Given the description of an element on the screen output the (x, y) to click on. 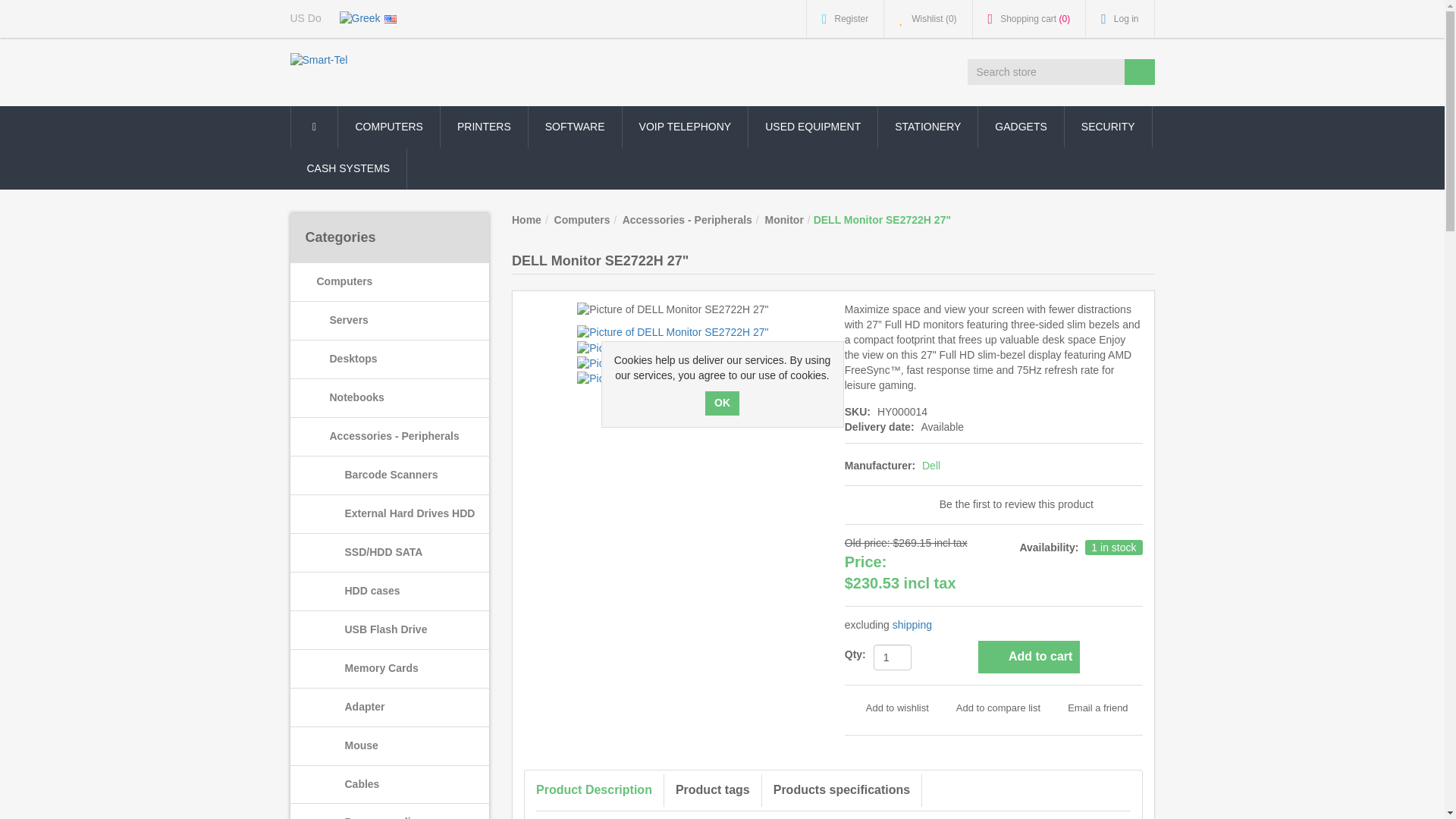
Picture of DELL Monitor SE2722H 27" (672, 331)
Picture of DELL Monitor SE2722H 27" (672, 378)
Picture of DELL Monitor SE2722H 27" (672, 346)
PRINTERS (484, 127)
Picture of DELL Monitor SE2722H 27" (672, 378)
Register (844, 18)
Picture of DELL Monitor SE2722H 27" (672, 309)
Add to cart (1029, 656)
English (390, 18)
Add to wishlist (886, 708)
Log in (1120, 18)
Greek (359, 18)
Email a friend (1086, 708)
Greek (359, 18)
Picture of DELL Monitor SE2722H 27" (672, 348)
